Given the description of an element on the screen output the (x, y) to click on. 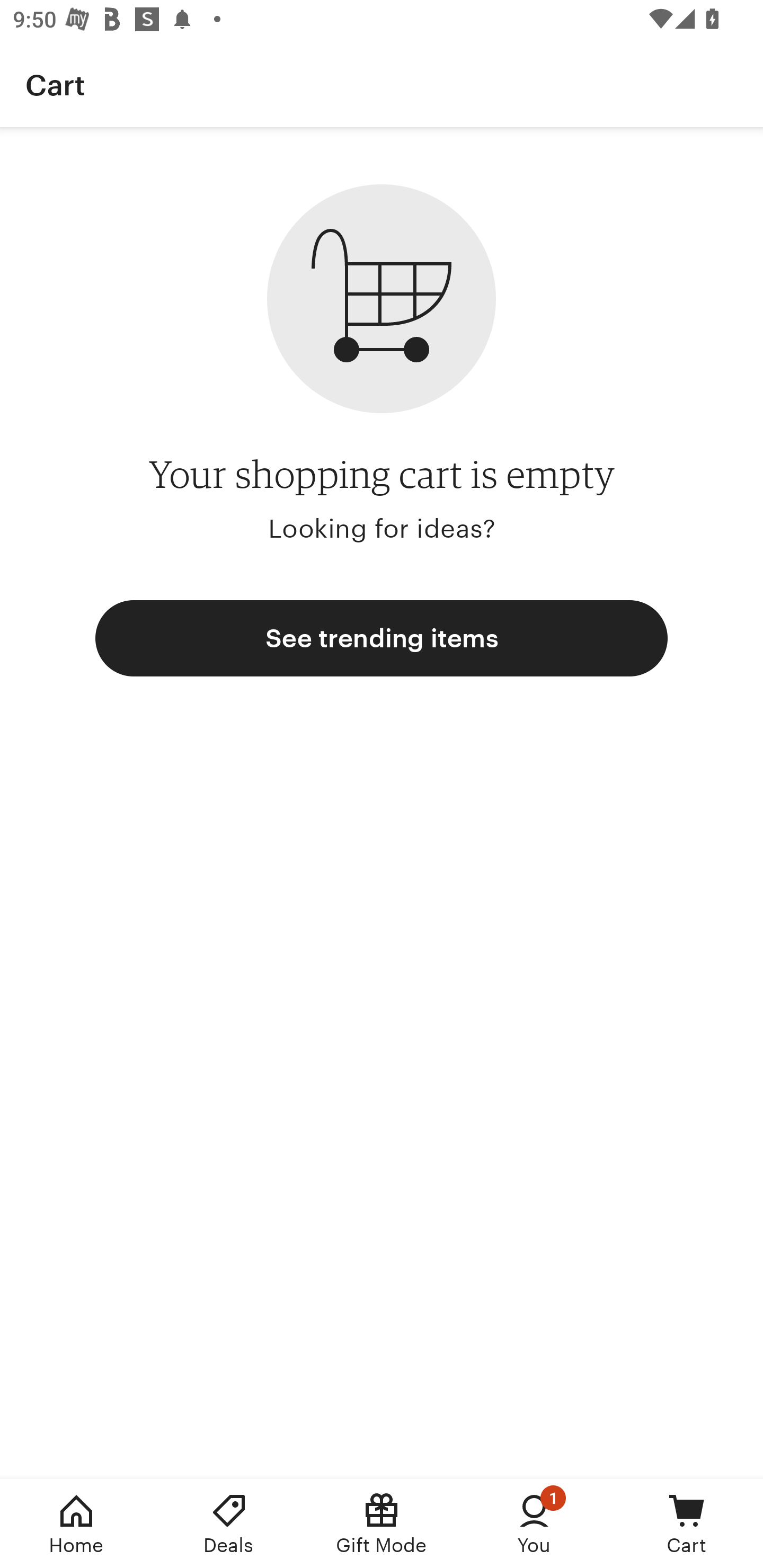
See trending items (381, 637)
Home (76, 1523)
Deals (228, 1523)
Gift Mode (381, 1523)
You, 1 new notification You (533, 1523)
